Given the description of an element on the screen output the (x, y) to click on. 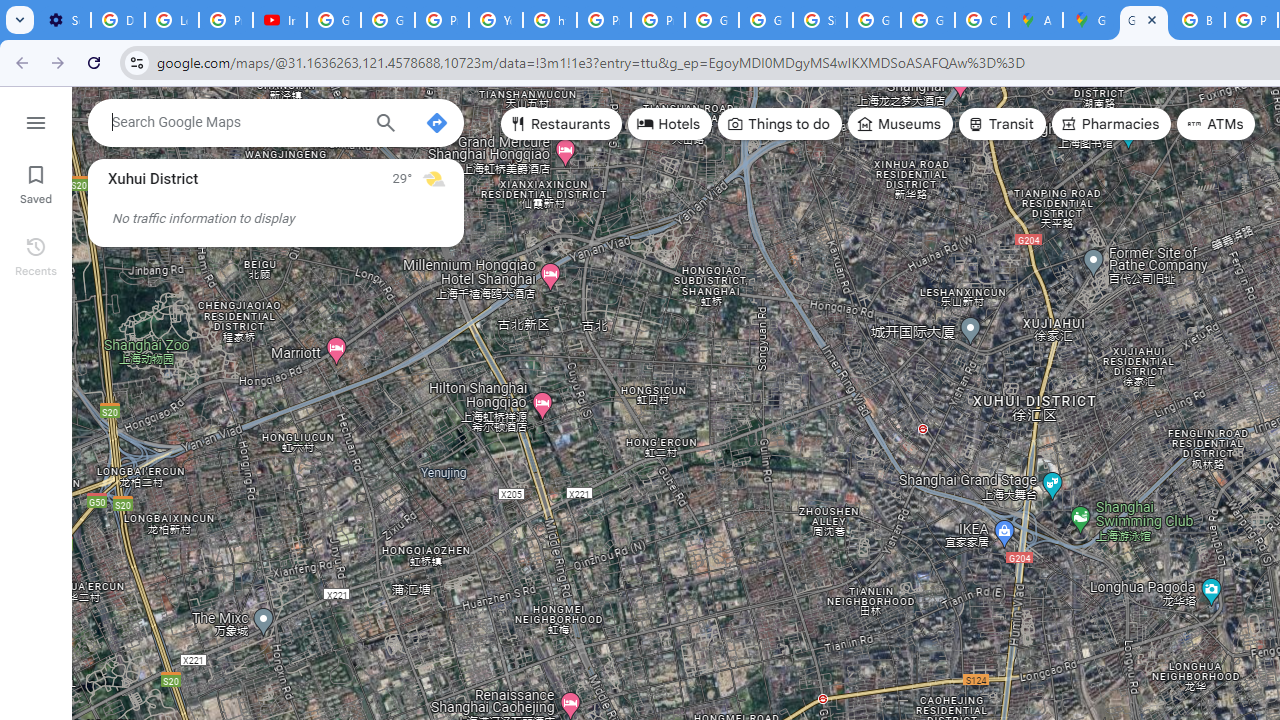
Menu (35, 120)
Directions (436, 122)
Search (385, 125)
Museums (900, 124)
Recents (35, 254)
Learn how to find your photos - Google Photos Help (171, 20)
